Given the description of an element on the screen output the (x, y) to click on. 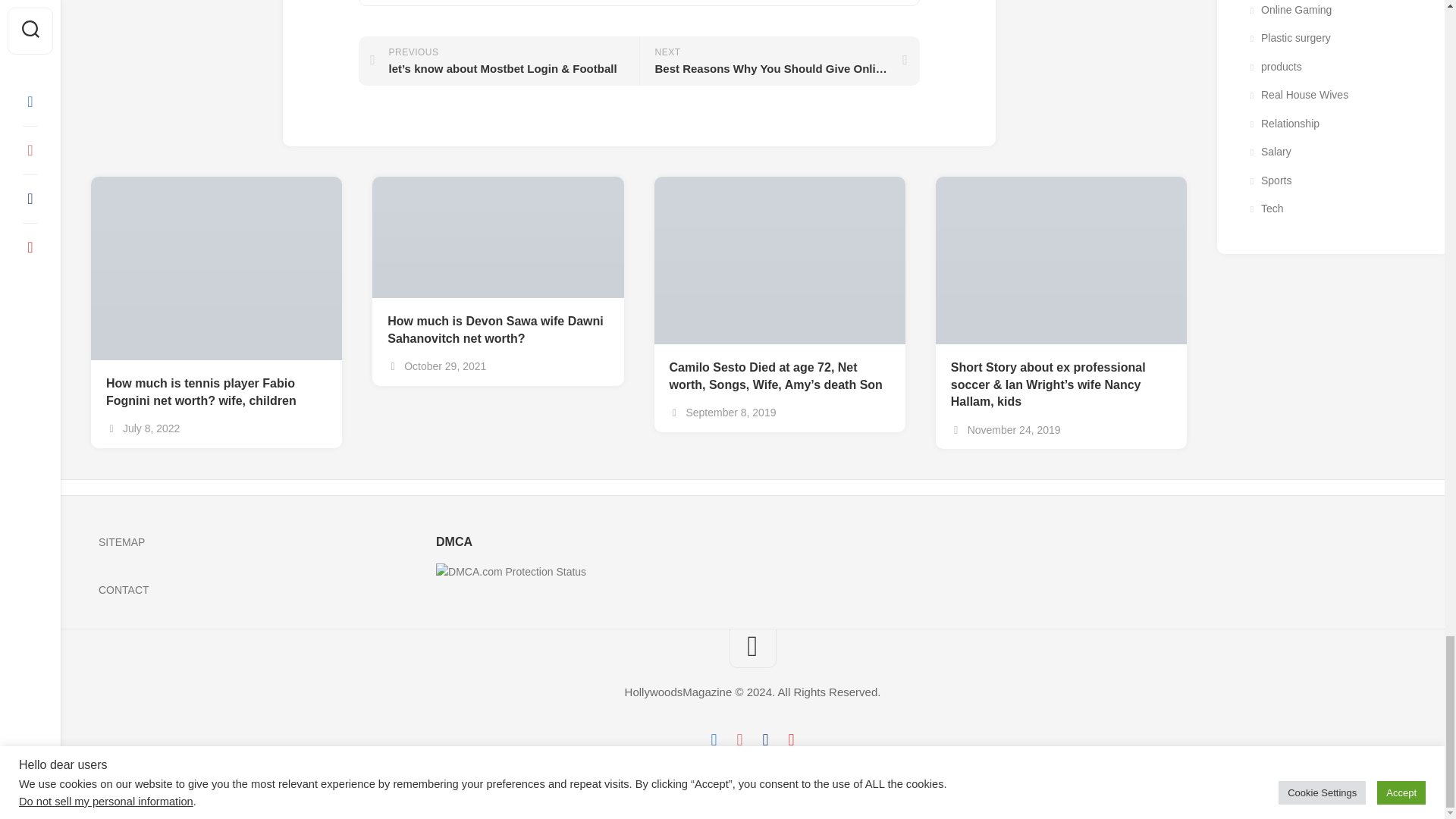
Share on LinkedIn (848, 2)
Share on Facebook (569, 2)
Share on Pinterest (708, 2)
Share on X (429, 2)
